Given the description of an element on the screen output the (x, y) to click on. 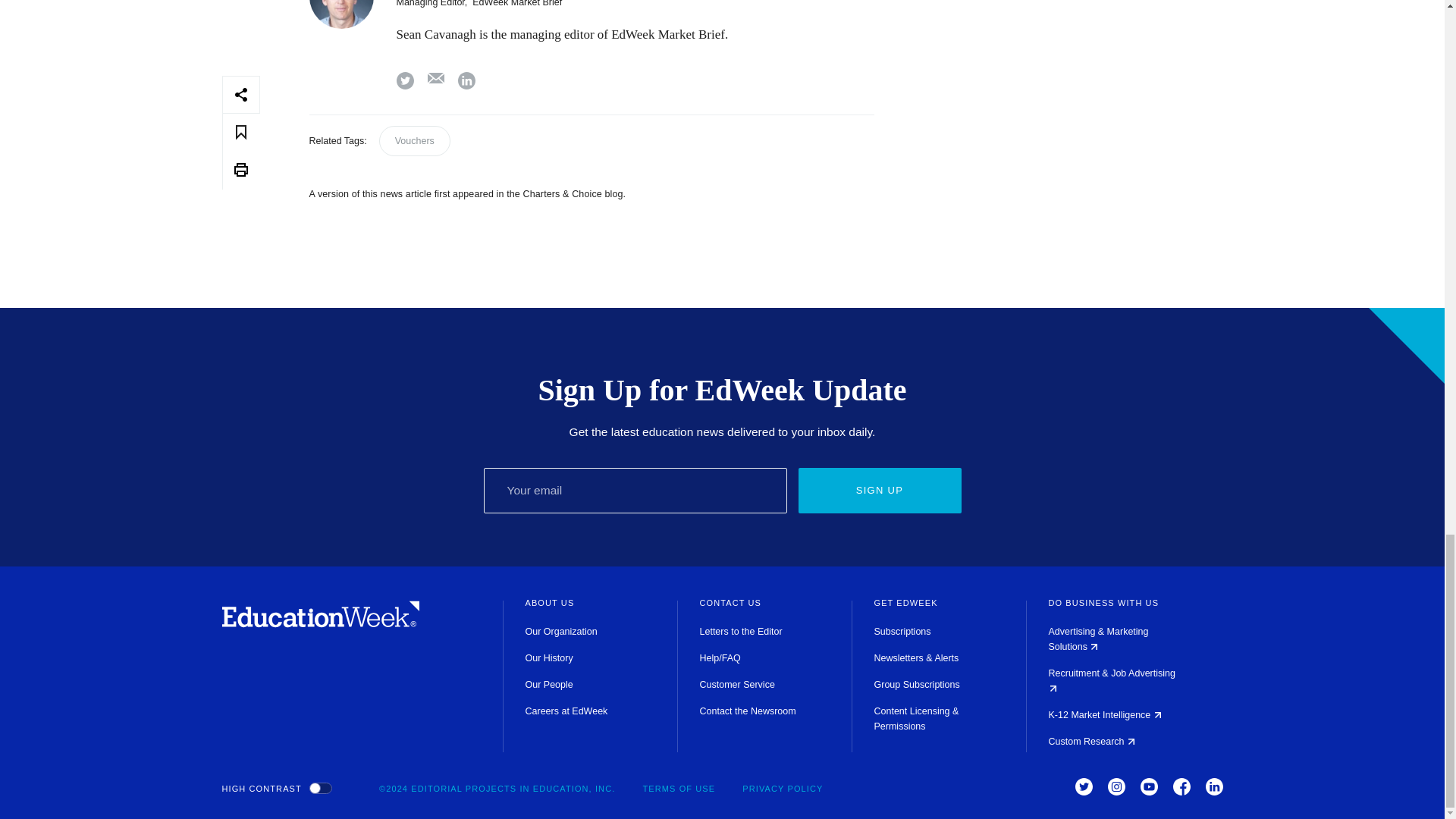
Homepage (320, 623)
